Given the description of an element on the screen output the (x, y) to click on. 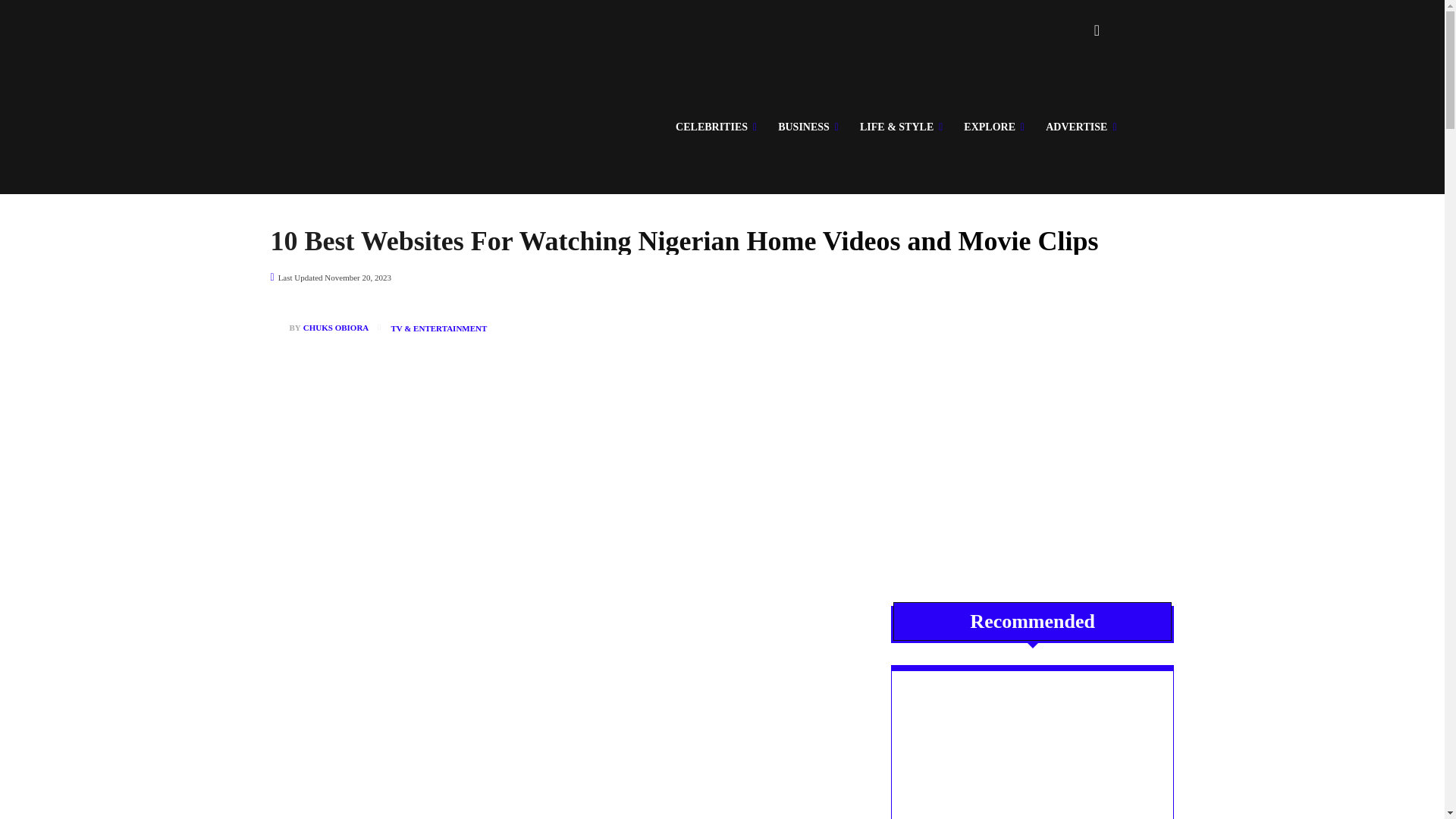
Chuks Obiora (278, 327)
CELEBRITIES (716, 127)
BUSINESS (807, 127)
